Given the description of an element on the screen output the (x, y) to click on. 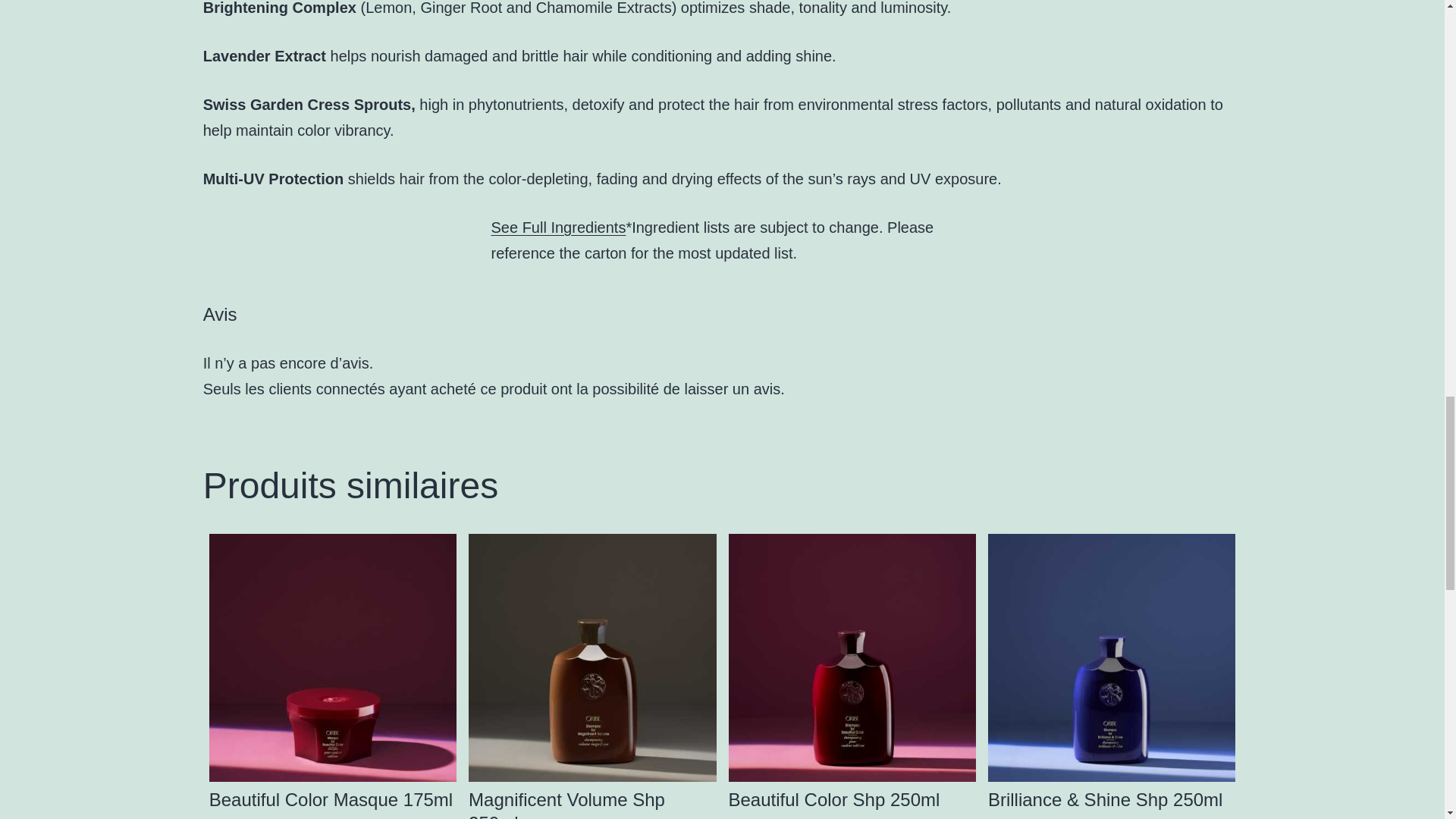
See Full Ingredients (559, 227)
